Given the description of an element on the screen output the (x, y) to click on. 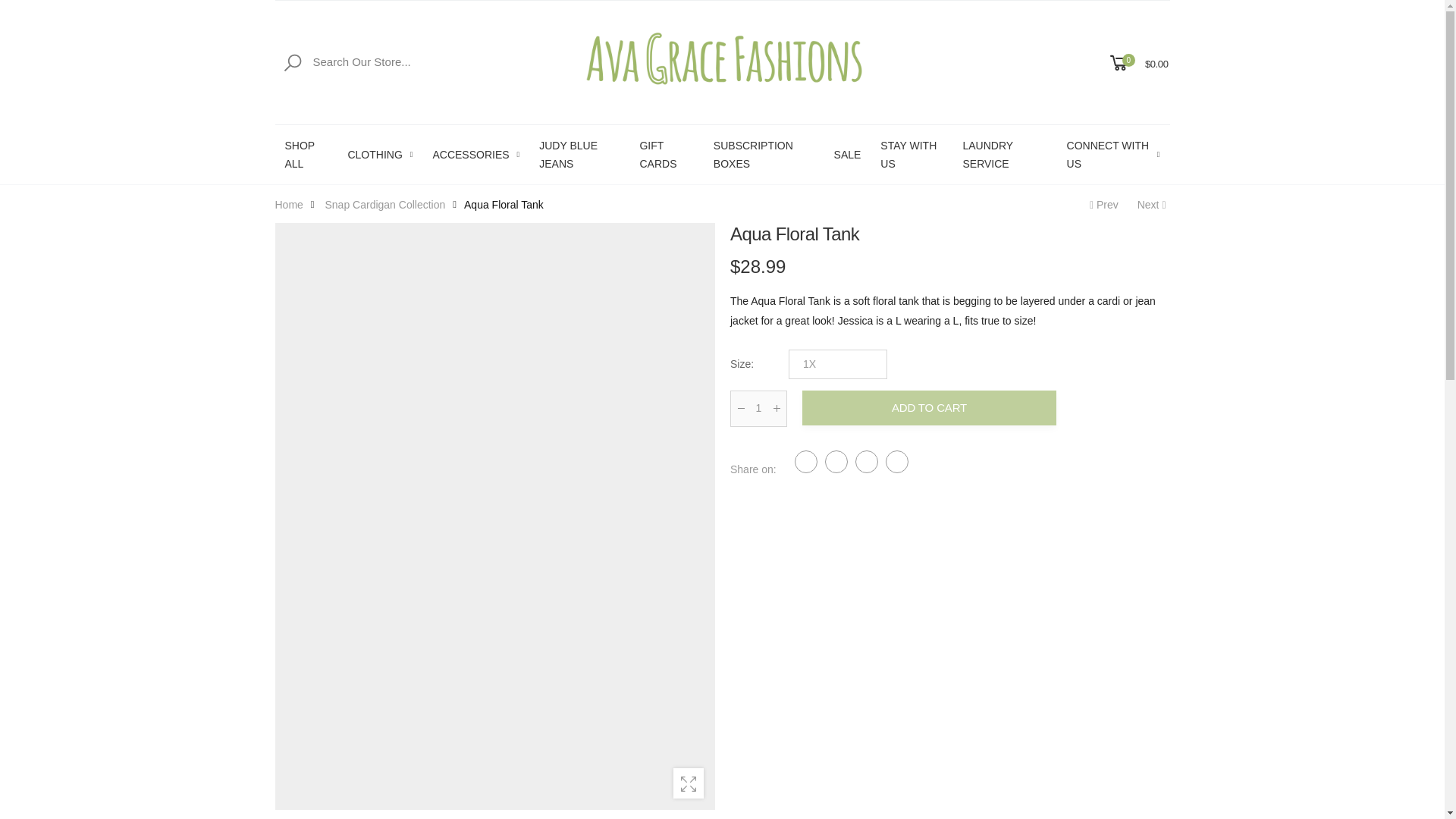
JUDY BLUE JEANS (579, 154)
STAY WITH US (911, 154)
SUBSCRIPTION BOXES (763, 154)
Golden Paisley Print Top (1153, 204)
1 (757, 408)
ACCESSORIES (475, 154)
LAUNDRY SERVICE (1004, 154)
Home (288, 204)
Laura Flower Cascade Tee (1102, 204)
Snap Cardigan Collection (384, 204)
